Given the description of an element on the screen output the (x, y) to click on. 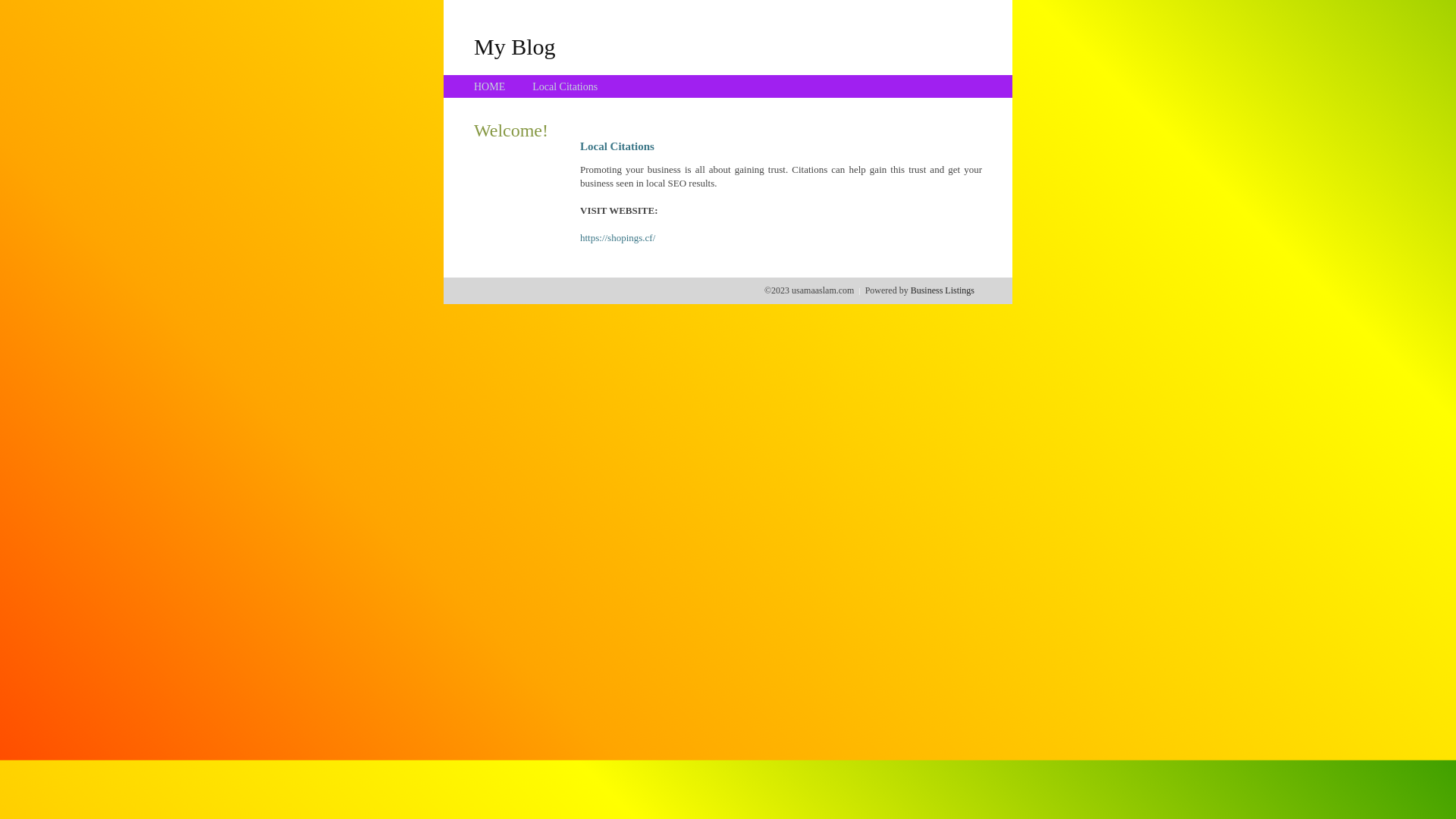
Local Citations Element type: text (564, 86)
Business Listings Element type: text (942, 290)
HOME Element type: text (489, 86)
My Blog Element type: text (514, 46)
https://shopings.cf/ Element type: text (617, 237)
